Given the description of an element on the screen output the (x, y) to click on. 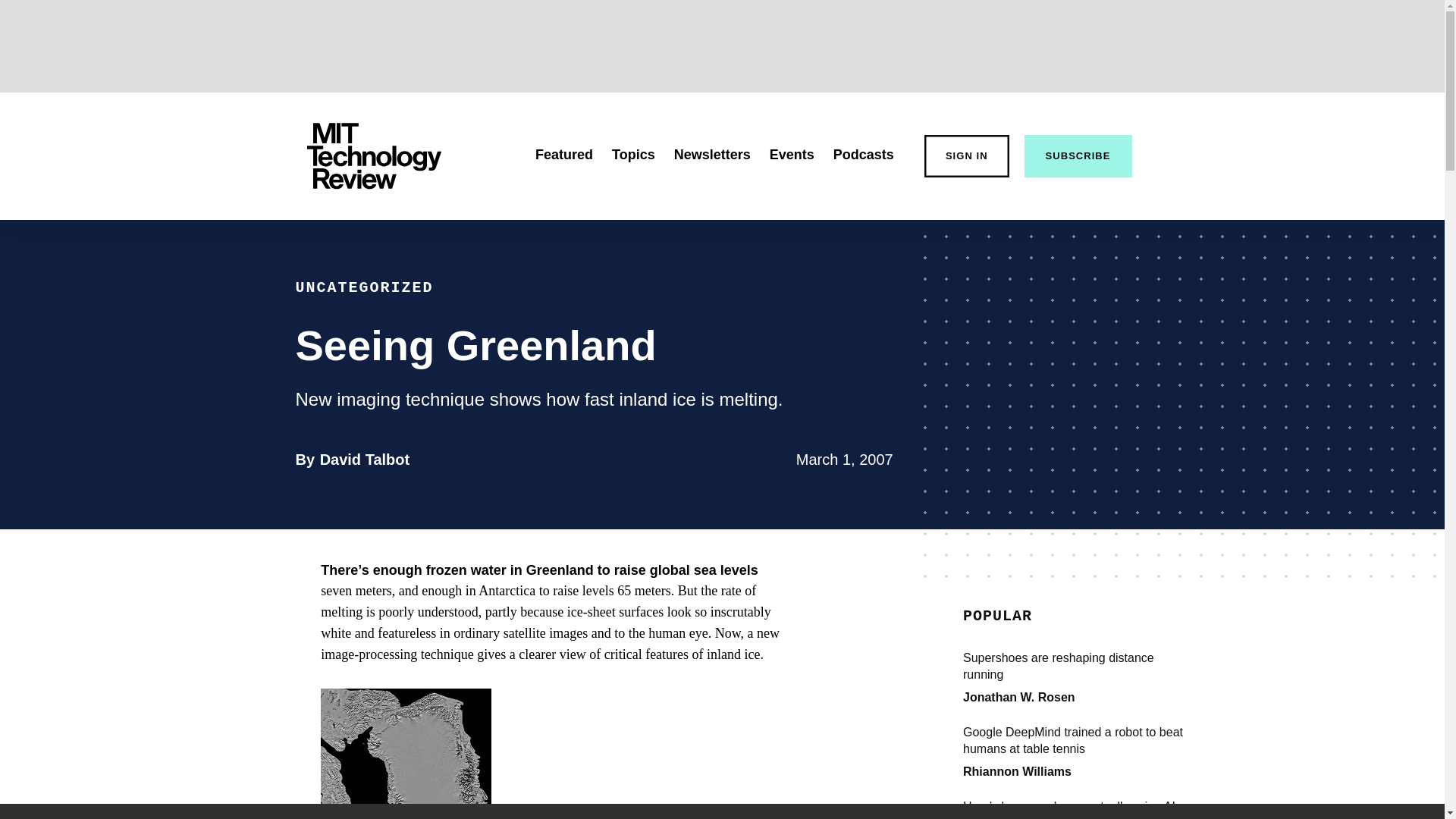
MIT Technology Review (373, 155)
UNCATEGORIZED (364, 287)
Supershoes are reshaping distance running (1075, 666)
SIGN IN (966, 156)
Events (791, 154)
Podcasts (862, 154)
SUBSCRIBE (1078, 156)
Topics (633, 154)
Rhiannon Williams (1016, 771)
